Given the description of an element on the screen output the (x, y) to click on. 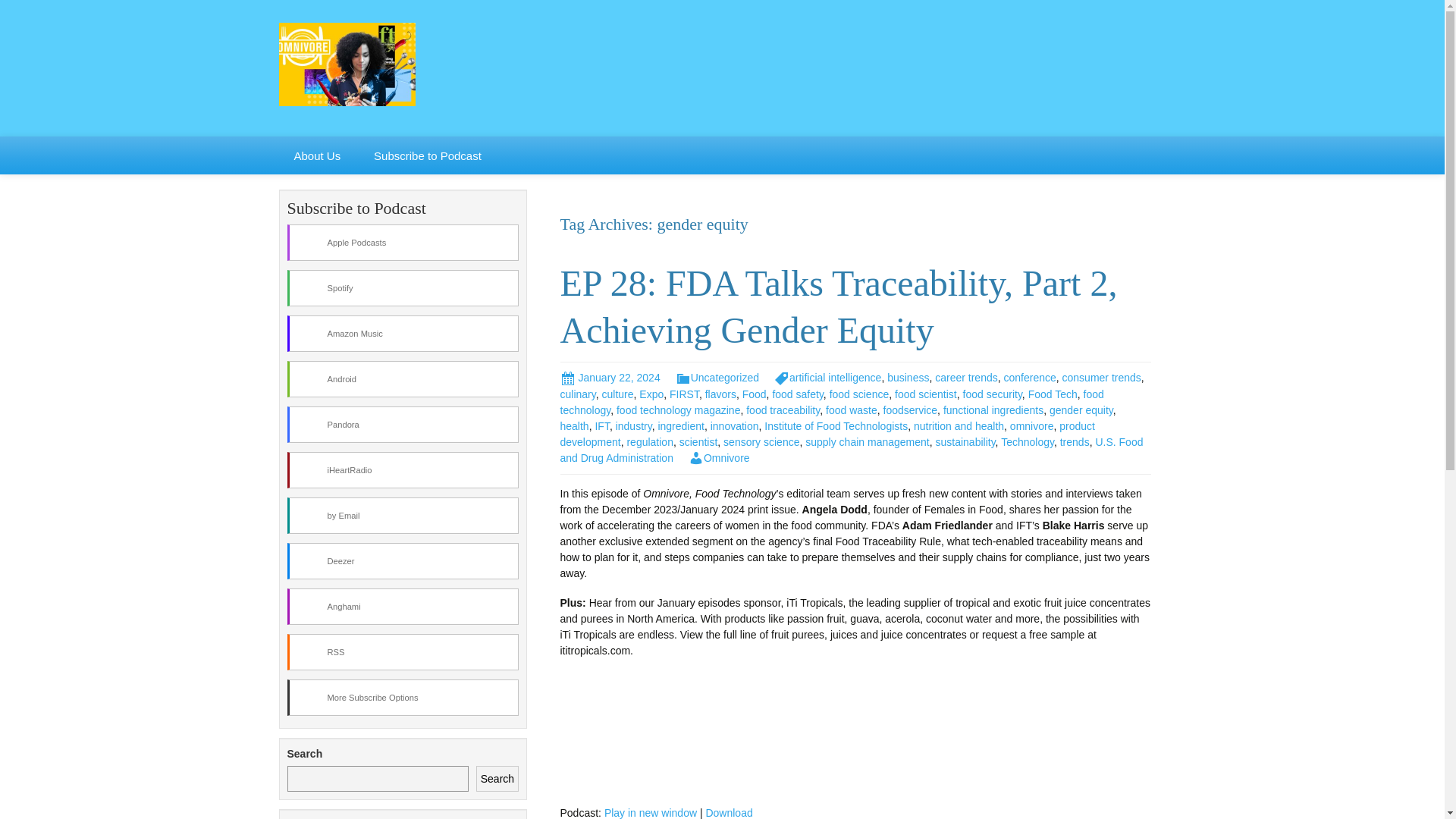
gender equity (1081, 410)
FIRST (683, 394)
Download (728, 812)
consumer trends (1101, 377)
food technology (831, 402)
About Us (317, 155)
food technology magazine (677, 410)
business (907, 377)
culinary (577, 394)
ingredient (681, 426)
Subscribe to Podcast (427, 155)
omnivore (1032, 426)
flavors (720, 394)
